Given the description of an element on the screen output the (x, y) to click on. 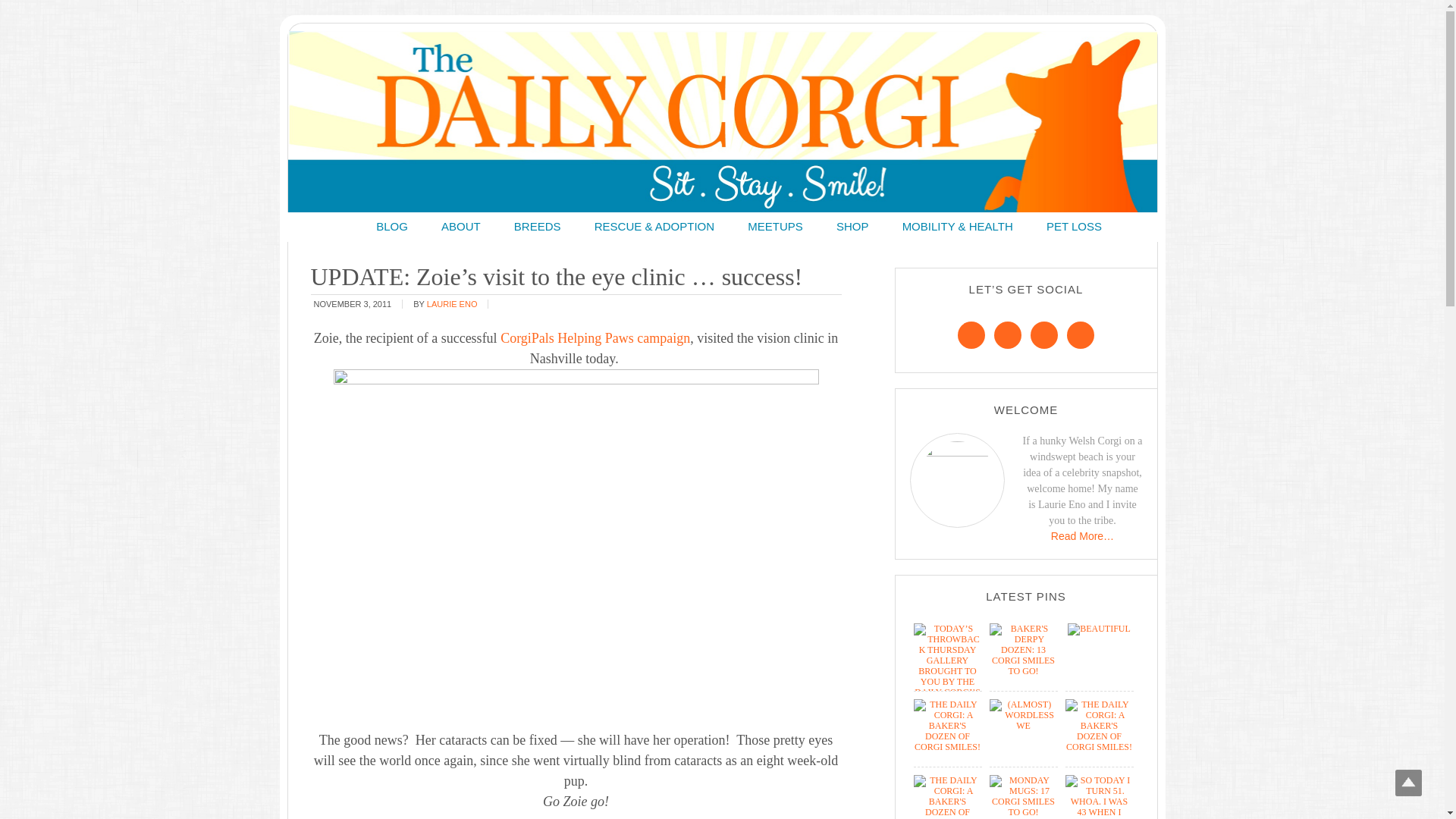
ABOUT (461, 226)
LAURIE ENO (451, 302)
BLOG (392, 226)
MEETUPS (775, 226)
Scroll to Top (1408, 782)
Monday Mugs: 17 Corgi Smiles To Go! - Pinned on Mar 20, 2017 (1022, 811)
BREEDS (537, 226)
CorgiPals Helping Paws campaign (595, 337)
Beautiful - Pinned on Mar 27, 2017 (1099, 628)
PET LOSS (1073, 226)
